Given the description of an element on the screen output the (x, y) to click on. 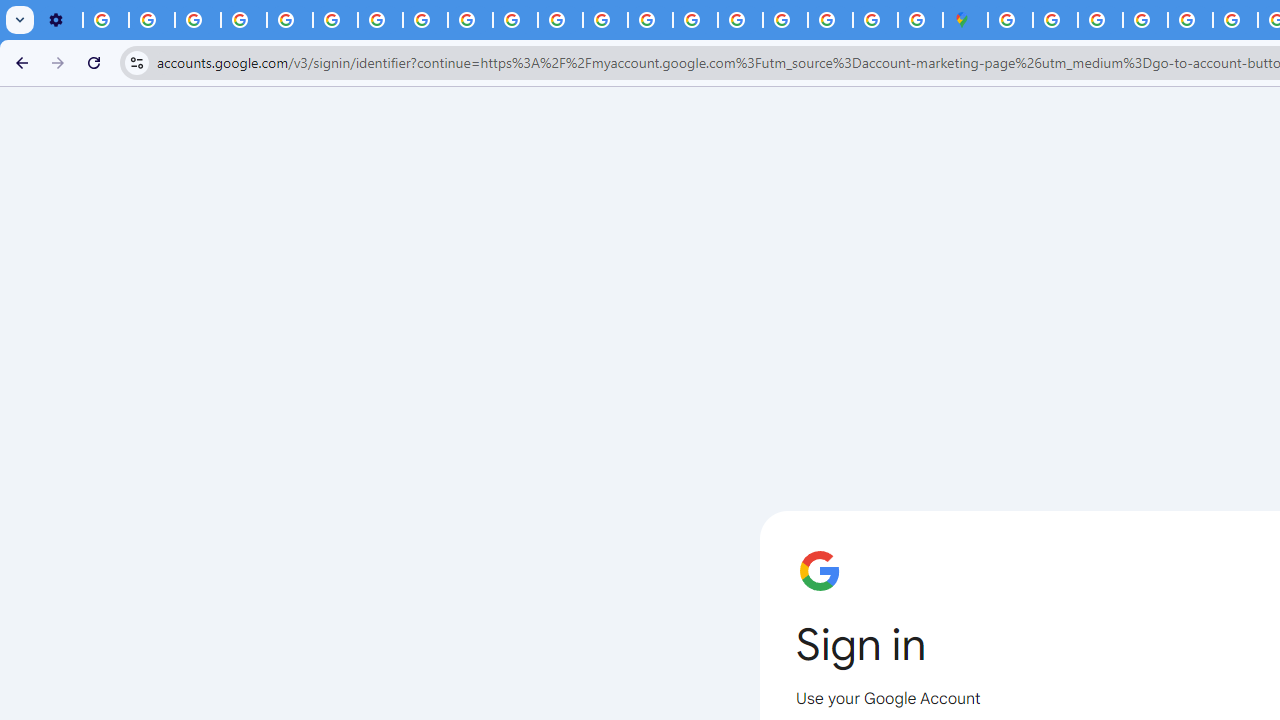
Delete photos & videos - Computer - Google Photos Help (106, 20)
Google Maps (965, 20)
Privacy Checkup (514, 20)
Forward (57, 62)
Terms and Conditions (1190, 20)
Back (19, 62)
Privacy Help Center - Policies Help (1235, 20)
Search tabs (20, 20)
Sign in - Google Accounts (1055, 20)
YouTube (335, 20)
Learn how to find your photos - Google Photos Help (152, 20)
